Given the description of an element on the screen output the (x, y) to click on. 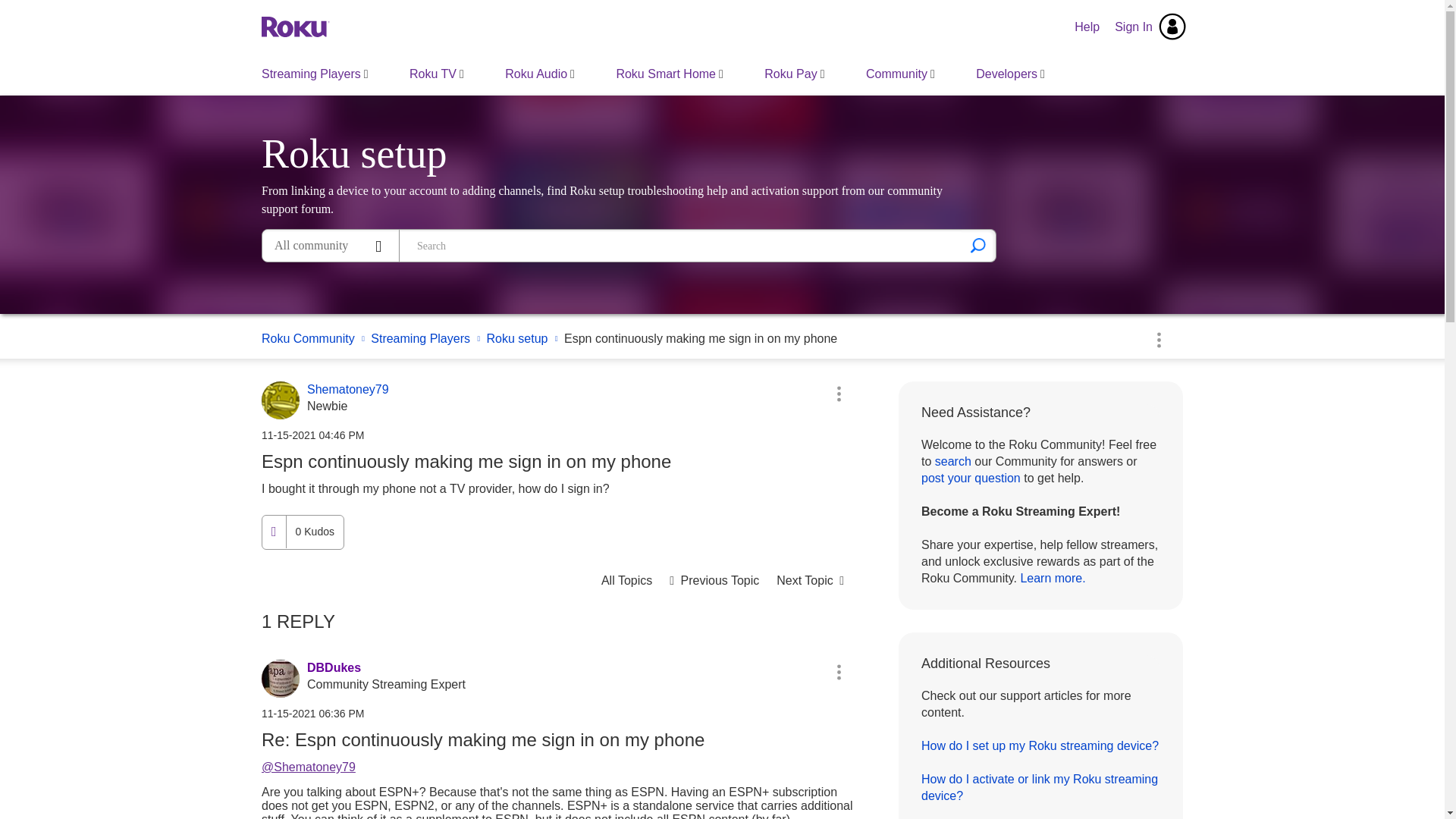
Roku Community (296, 26)
Help (1086, 26)
Roku TV (436, 73)
Search (977, 245)
Posted on (557, 434)
Community (900, 73)
Show option menu (839, 393)
Roku Pay (794, 73)
Search (977, 245)
Search (977, 245)
Search Granularity (330, 245)
Search (680, 245)
The total number of kudos this post has received. (314, 531)
Streaming Players (315, 73)
